Given the description of an element on the screen output the (x, y) to click on. 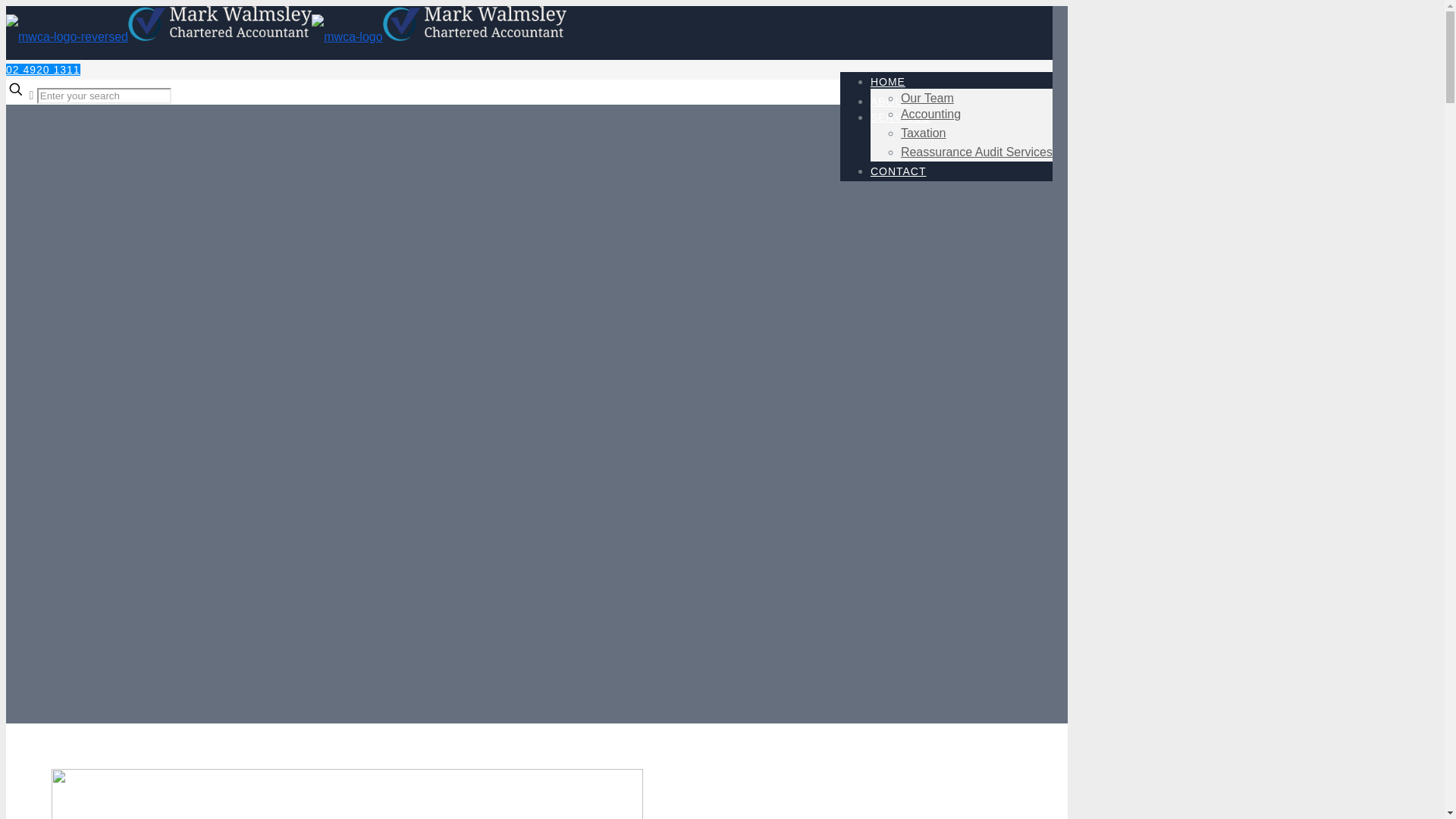
Taxation Element type: text (923, 132)
Mark Walmsley Chartered Accountant Element type: hover (286, 36)
CONTACT Element type: text (898, 170)
02 4920 1311 Element type: text (43, 69)
Accounting Element type: text (930, 113)
ABOUT Element type: text (890, 101)
Reassurance Audit Services Element type: text (976, 151)
SERVICES Element type: text (900, 117)
HOME Element type: text (887, 81)
Our Team Element type: text (926, 97)
